Given the description of an element on the screen output the (x, y) to click on. 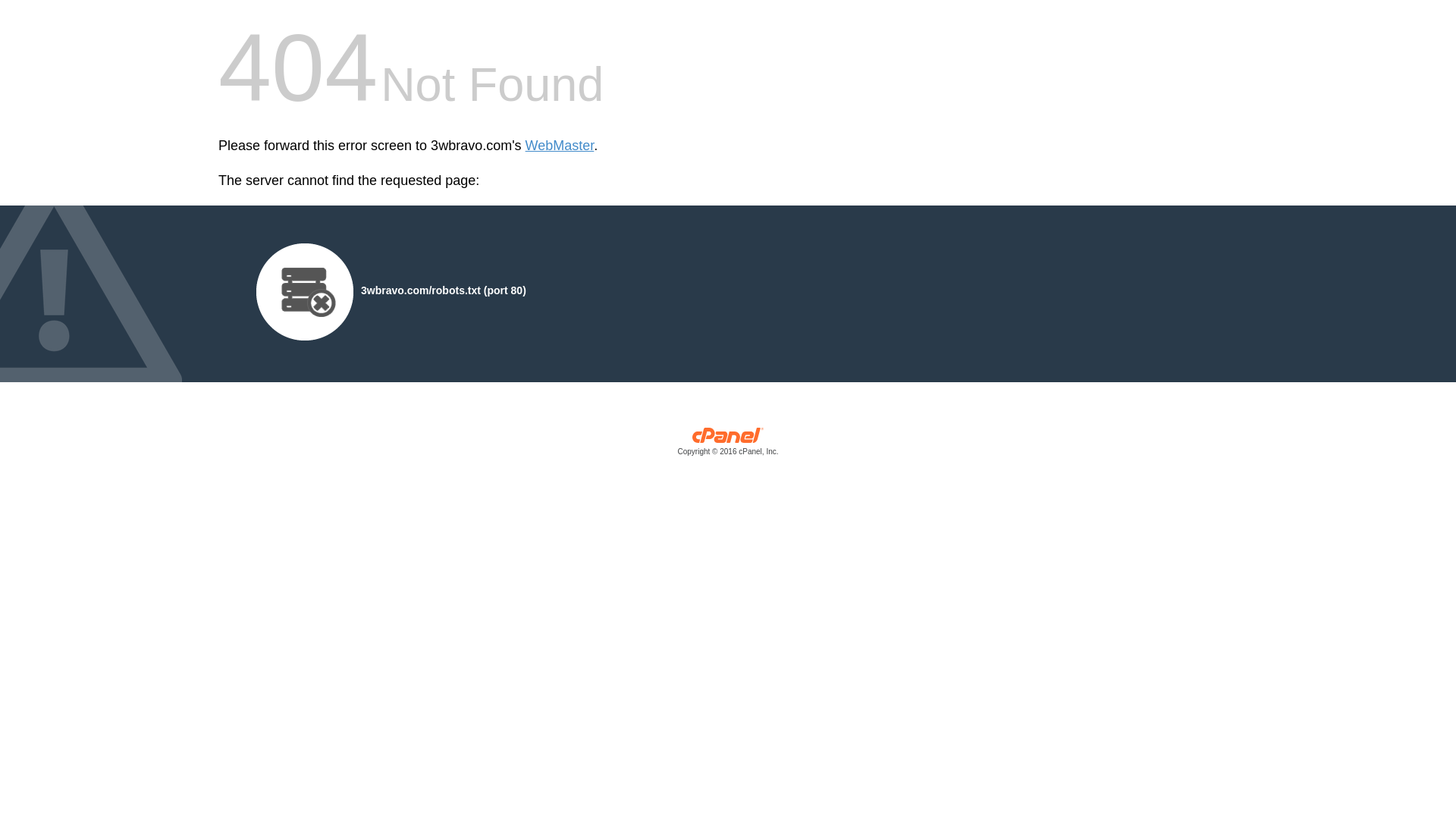
WebMaster Element type: text (559, 145)
